Given the description of an element on the screen output the (x, y) to click on. 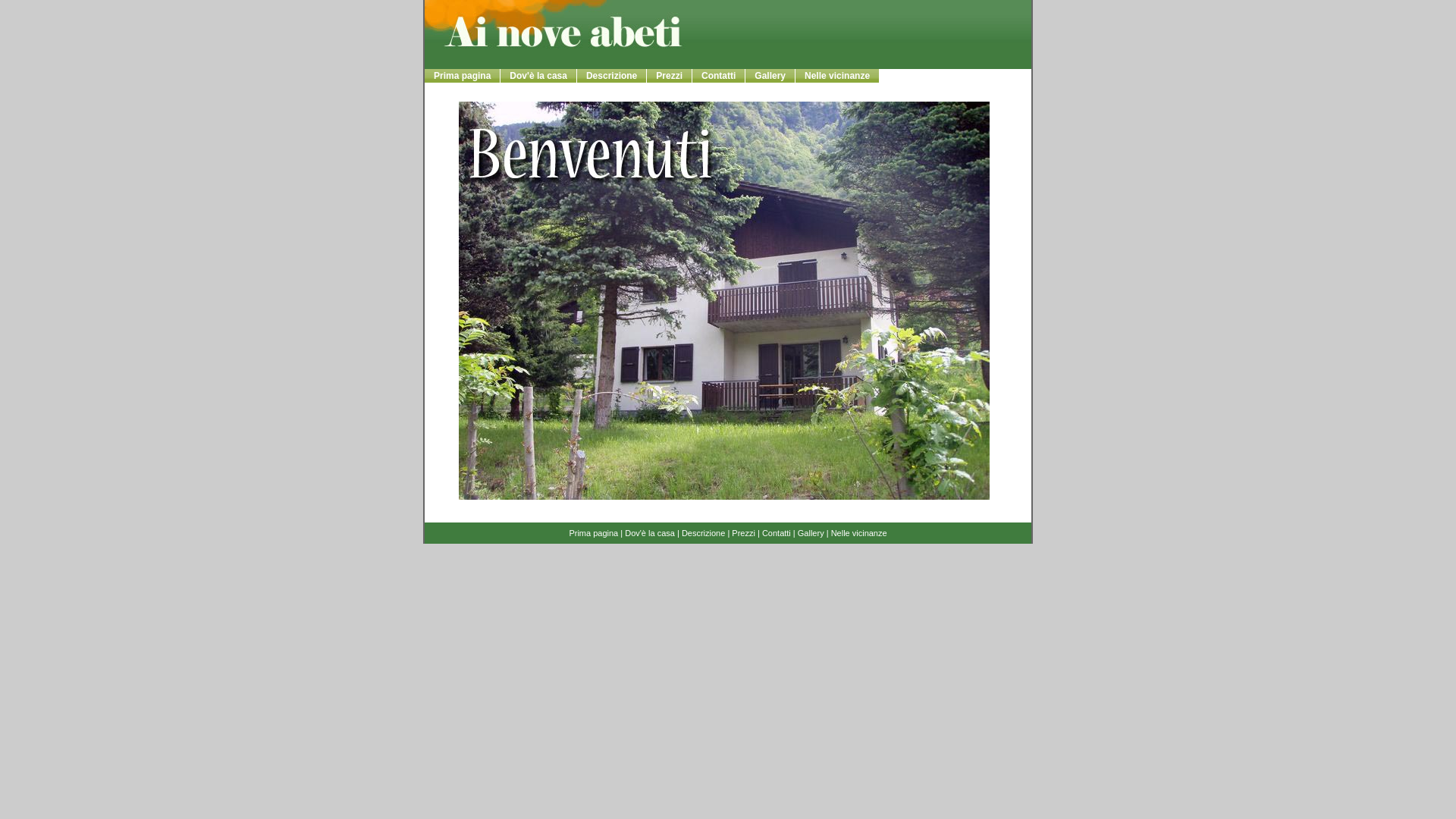
Nelle vicinanze Element type: text (836, 75)
Prima pagina Element type: text (461, 75)
Gallery Element type: text (769, 75)
Contatti Element type: text (718, 75)
Gallery Element type: text (810, 532)
Nelle vicinanze Element type: text (859, 532)
Prezzi Element type: text (743, 532)
Prima pagina Element type: text (593, 532)
Prezzi Element type: text (668, 75)
Contatti Element type: text (776, 532)
Descrizione Element type: text (611, 75)
Descrizione Element type: text (702, 532)
